Given the description of an element on the screen output the (x, y) to click on. 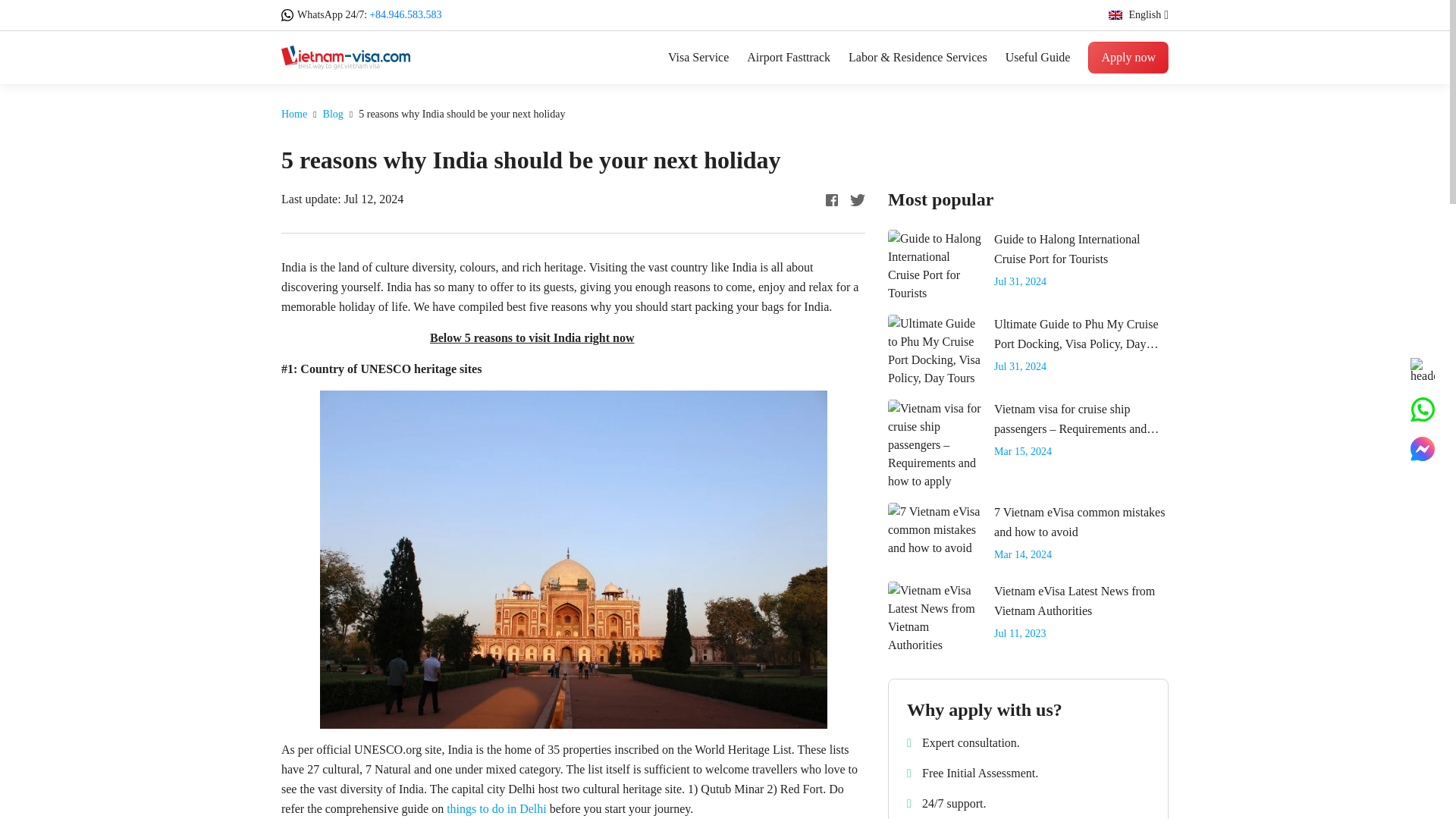
Click to share this post on Twitter (857, 198)
Useful Guide (1038, 57)
logo vietnam-visa.com (345, 56)
Airport Fasttrack (787, 57)
Visa Service (698, 57)
Apply now (1128, 57)
twitter sharing button (857, 200)
